Given the description of an element on the screen output the (x, y) to click on. 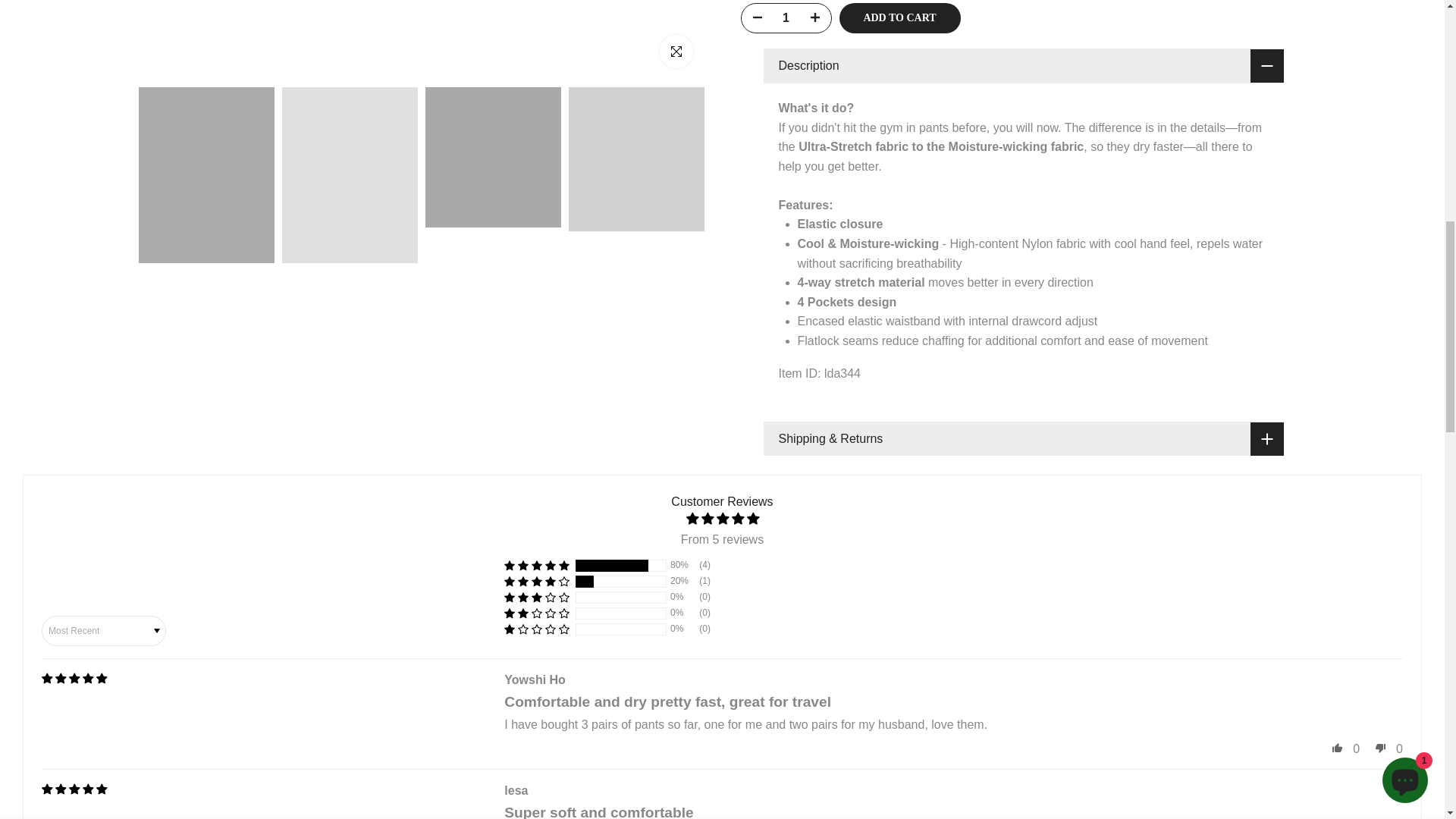
1 (904, 35)
up (1336, 747)
down (1380, 747)
